Given the description of an element on the screen output the (x, y) to click on. 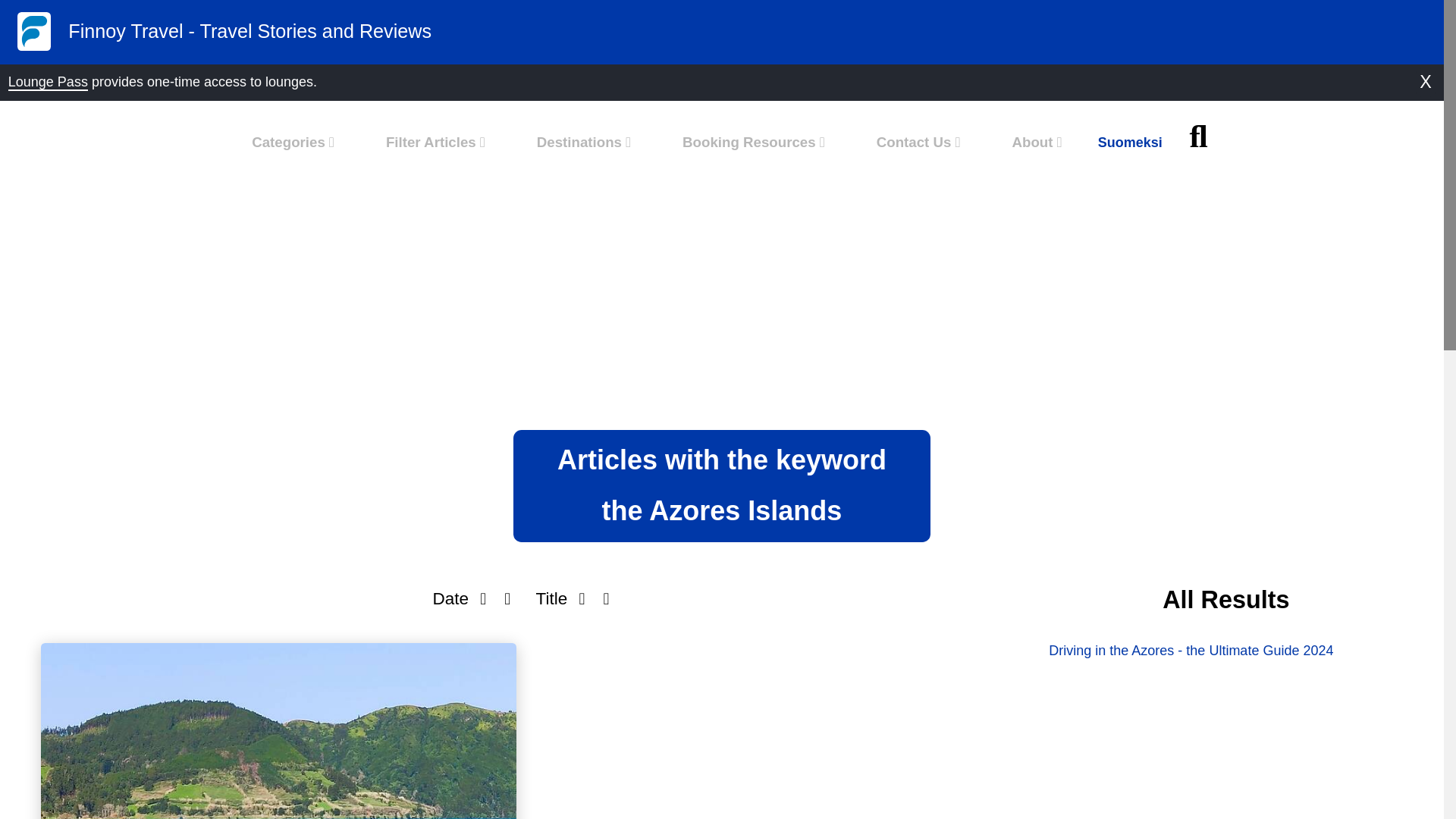
Finnoy Travel - Travel Stories and Reviews (686, 41)
Destinations (583, 141)
Filter Articles (434, 141)
Lounge Pass (47, 82)
Categories (292, 141)
